Given the description of an element on the screen output the (x, y) to click on. 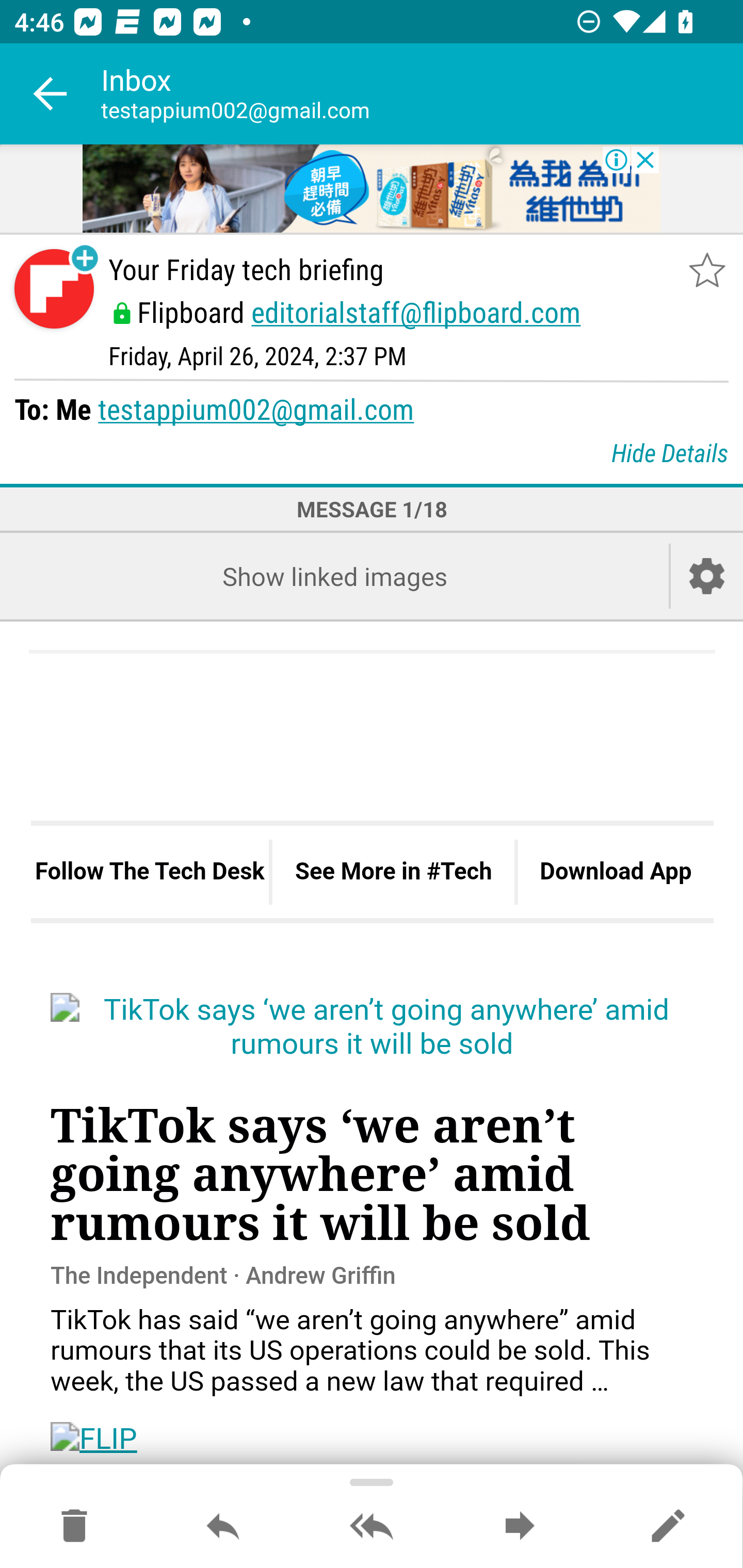
Navigate up (50, 93)
Inbox testappium002@gmail.com (422, 93)
Sender contact button (53, 289)
Show linked images (334, 576)
Account setup (706, 576)
Follow The Tech Desk Follow  The Tech Desk (149, 871)
See More in #Tech (393, 871)
Download App (615, 871)
FLIP (93, 1438)
Move to Deleted (74, 1527)
Reply (222, 1527)
Reply all (371, 1527)
Forward (519, 1527)
Reply as new (667, 1527)
